Given the description of an element on the screen output the (x, y) to click on. 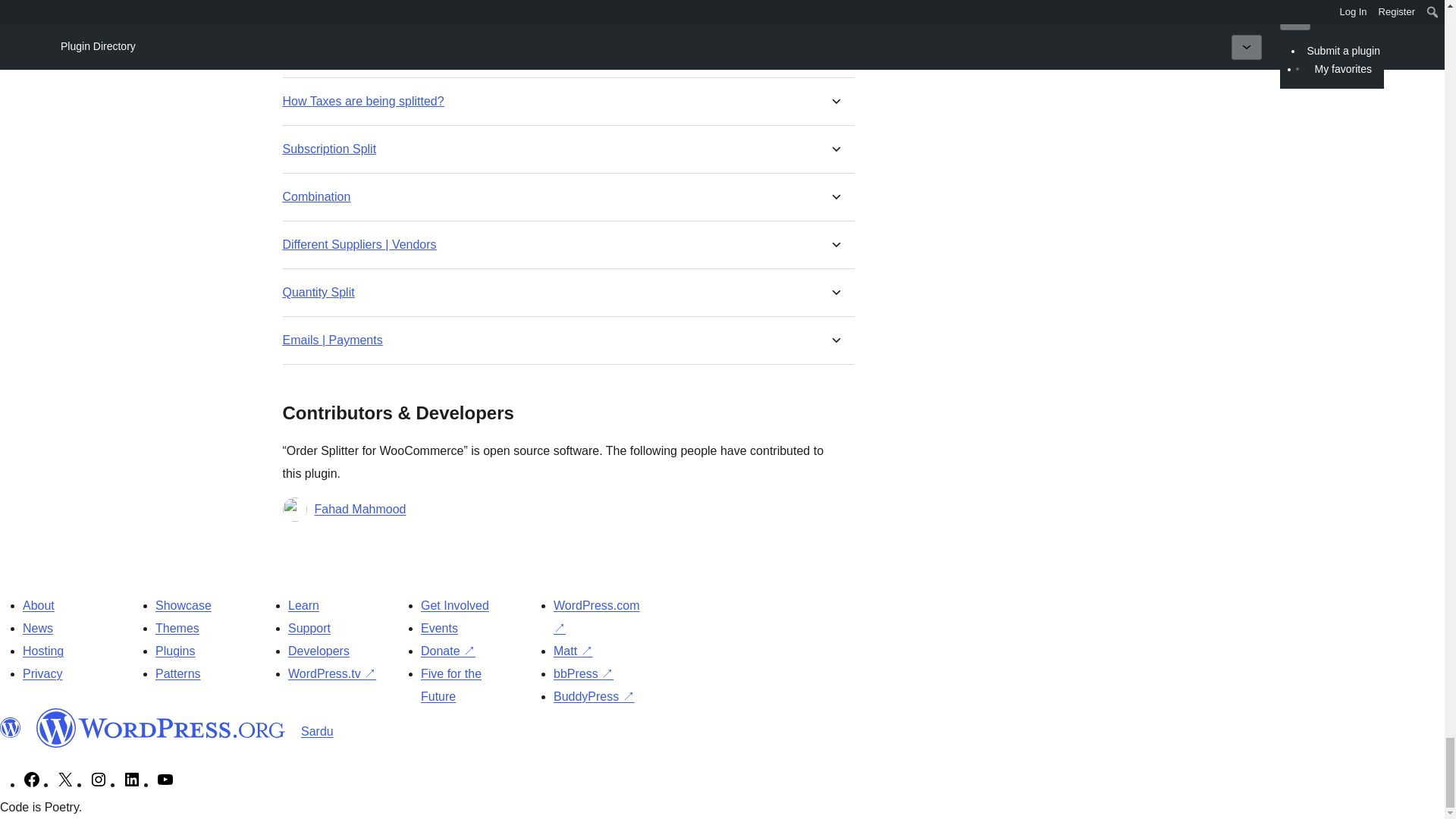
WordPress.org (160, 727)
WordPress.org (10, 727)
